Given the description of an element on the screen output the (x, y) to click on. 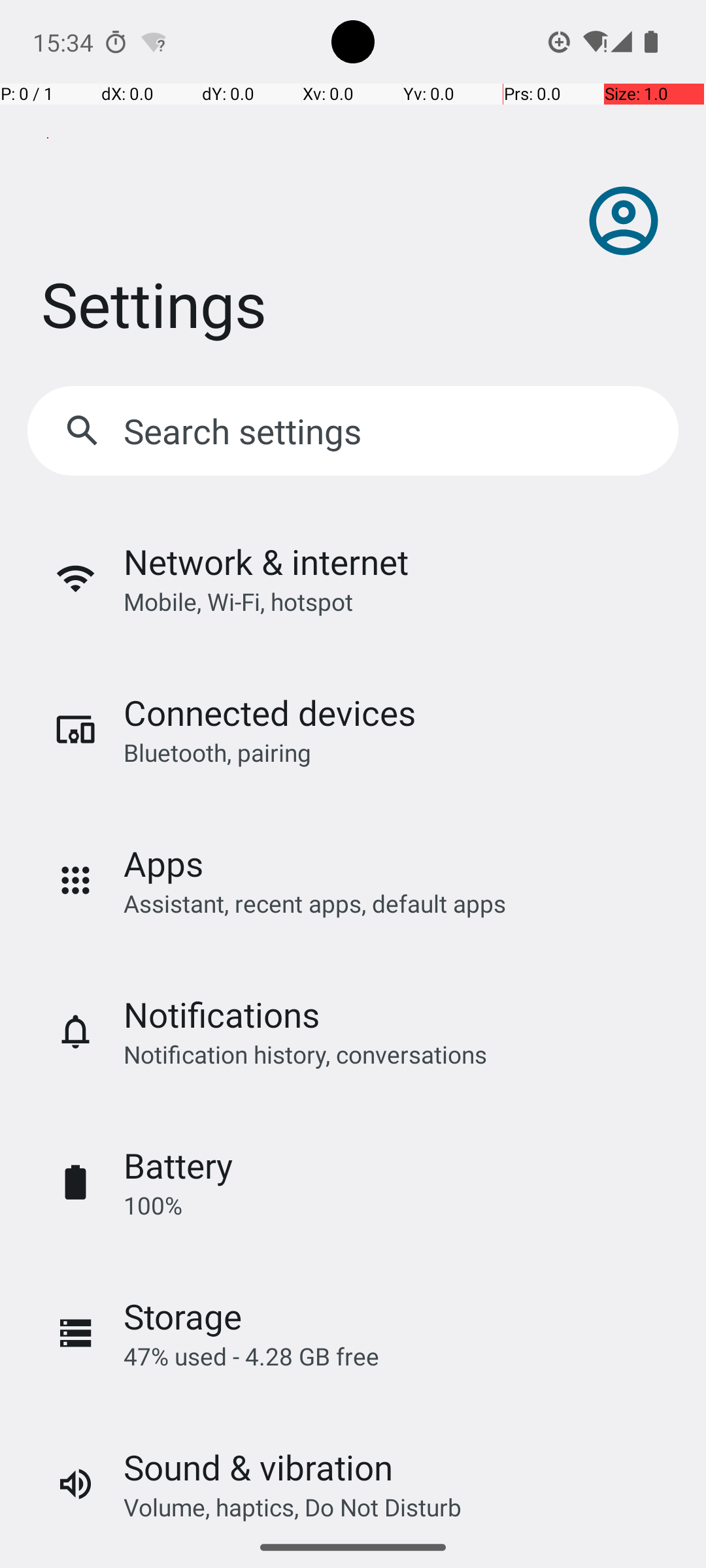
47% used - 4.28 GB free Element type: android.widget.TextView (251, 1355)
